Given the description of an element on the screen output the (x, y) to click on. 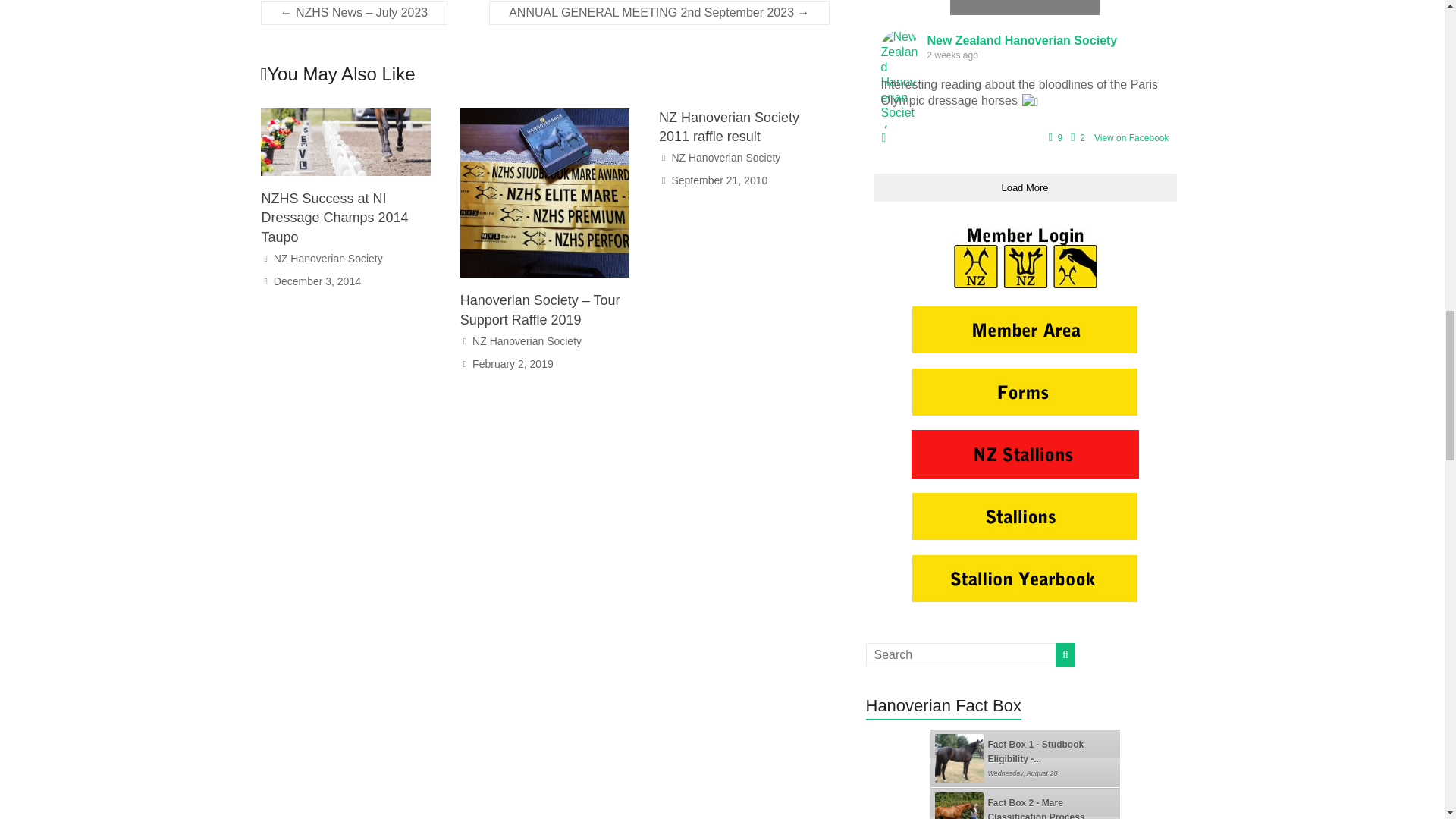
NZHS Success at NI Dressage Champs 2014 Taupo (345, 115)
NZHS Success at NI Dressage Champs 2014 Taupo (345, 142)
NZHS Success at NI Dressage Champs 2014 Taupo (333, 217)
NZ Hanoverian Society (327, 258)
1:27 pm (317, 281)
NZHS Success at NI Dressage Champs 2014 Taupo (333, 217)
2:52 pm (512, 363)
3:32 am (719, 180)
NZ Hanoverian Society 2011 raffle result (729, 126)
